Given the description of an element on the screen output the (x, y) to click on. 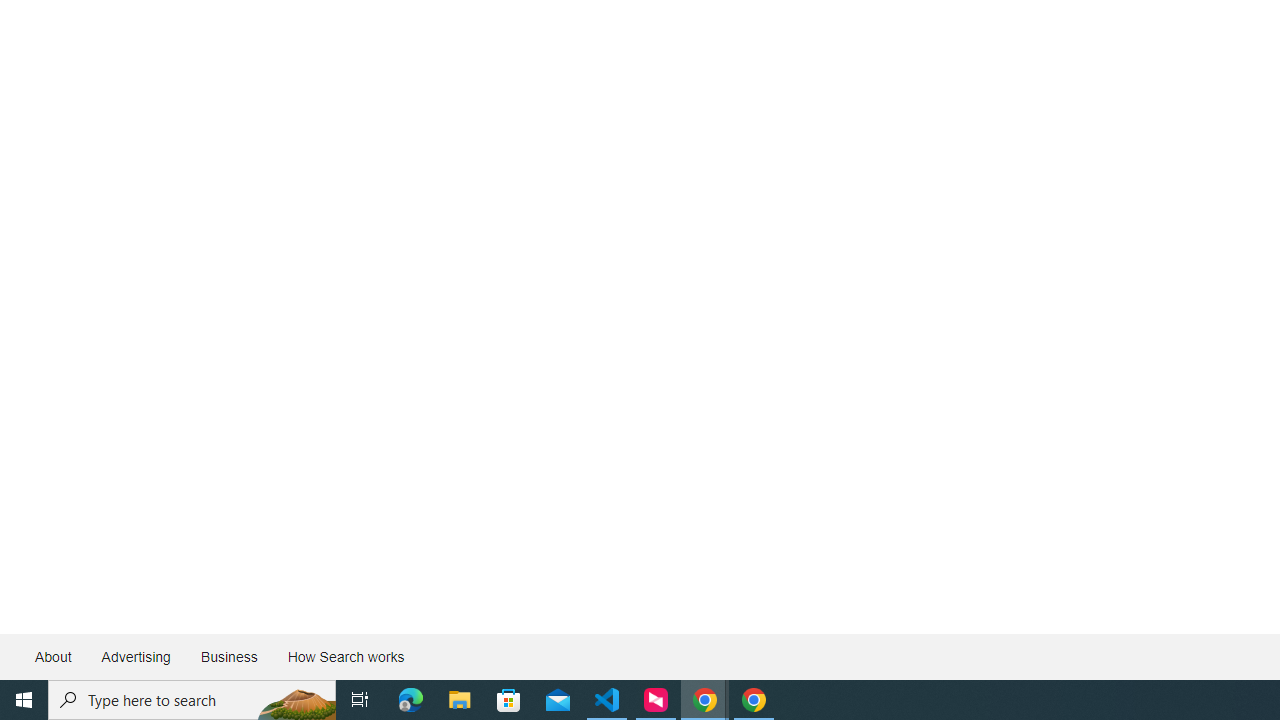
Advertising (135, 656)
About (53, 656)
How Search works (345, 656)
Business (228, 656)
